Given the description of an element on the screen output the (x, y) to click on. 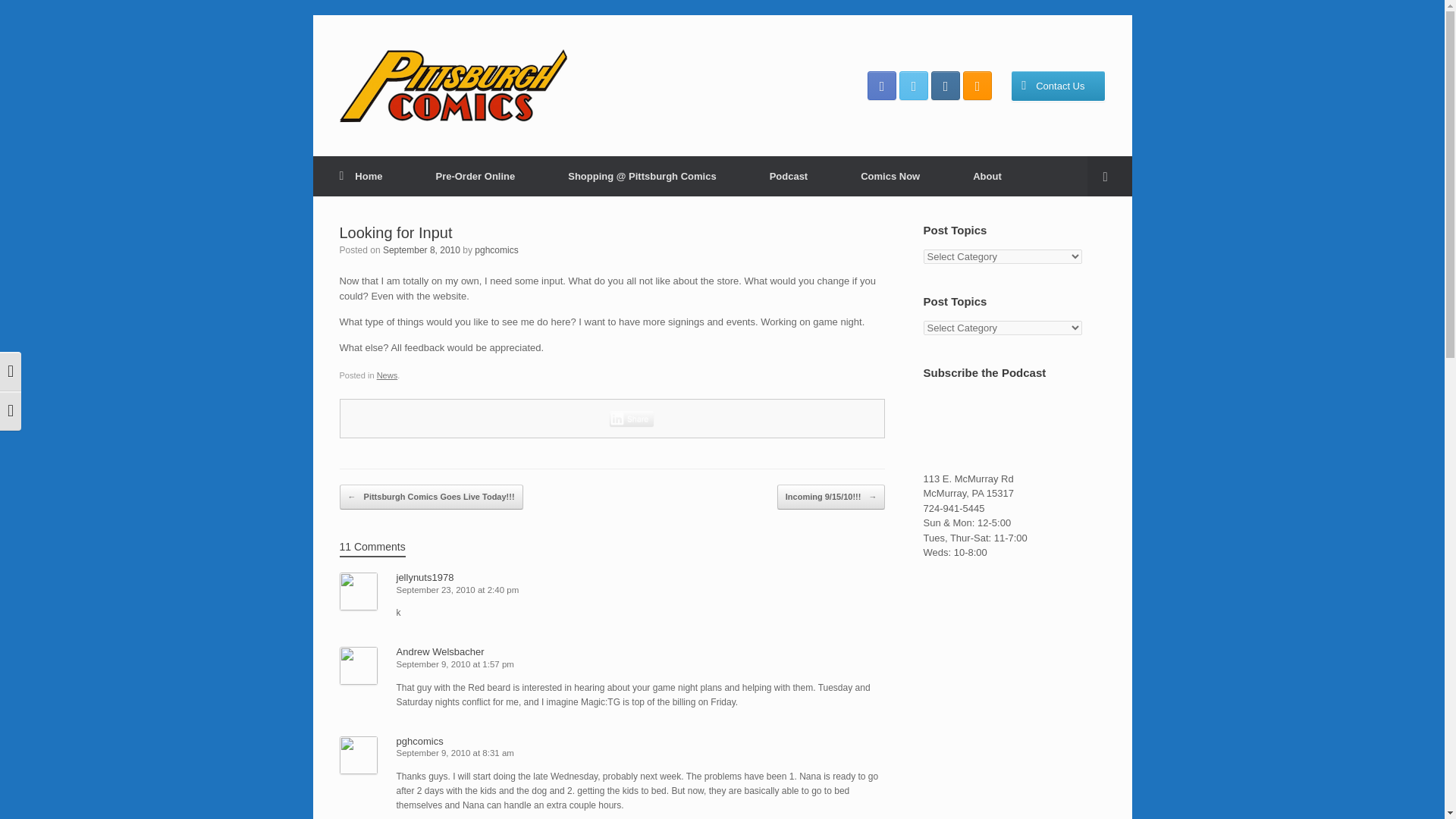
Andrew Welsbacher (439, 651)
About (986, 176)
pghcomics (496, 249)
Home (361, 176)
News (387, 375)
September 23, 2010 at 2:40 pm (457, 589)
Contact Us (1057, 84)
September 8, 2010 (421, 249)
September 9, 2010 at 1:57 pm (454, 664)
Comics Now (890, 176)
September 9, 2010 at 8:31 am (454, 752)
Podcast (788, 176)
Pre-Order Online (475, 176)
Share (631, 418)
